Given the description of an element on the screen output the (x, y) to click on. 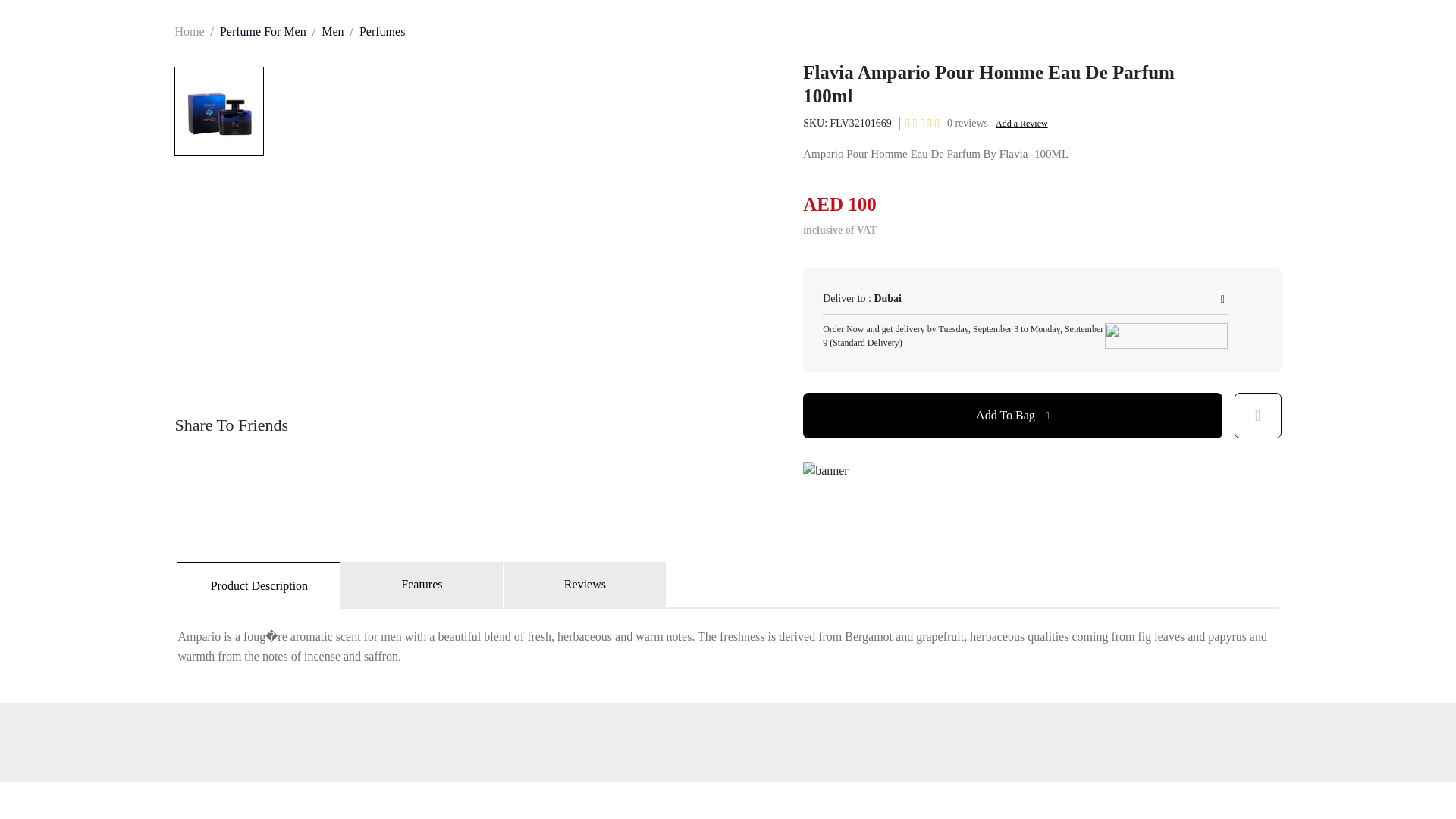
Perfumes (381, 31)
Features (421, 584)
Product Description (258, 585)
Reviews (584, 584)
Men (332, 31)
Add To Bag (1013, 415)
Perfume For Men (262, 31)
